Given the description of an element on the screen output the (x, y) to click on. 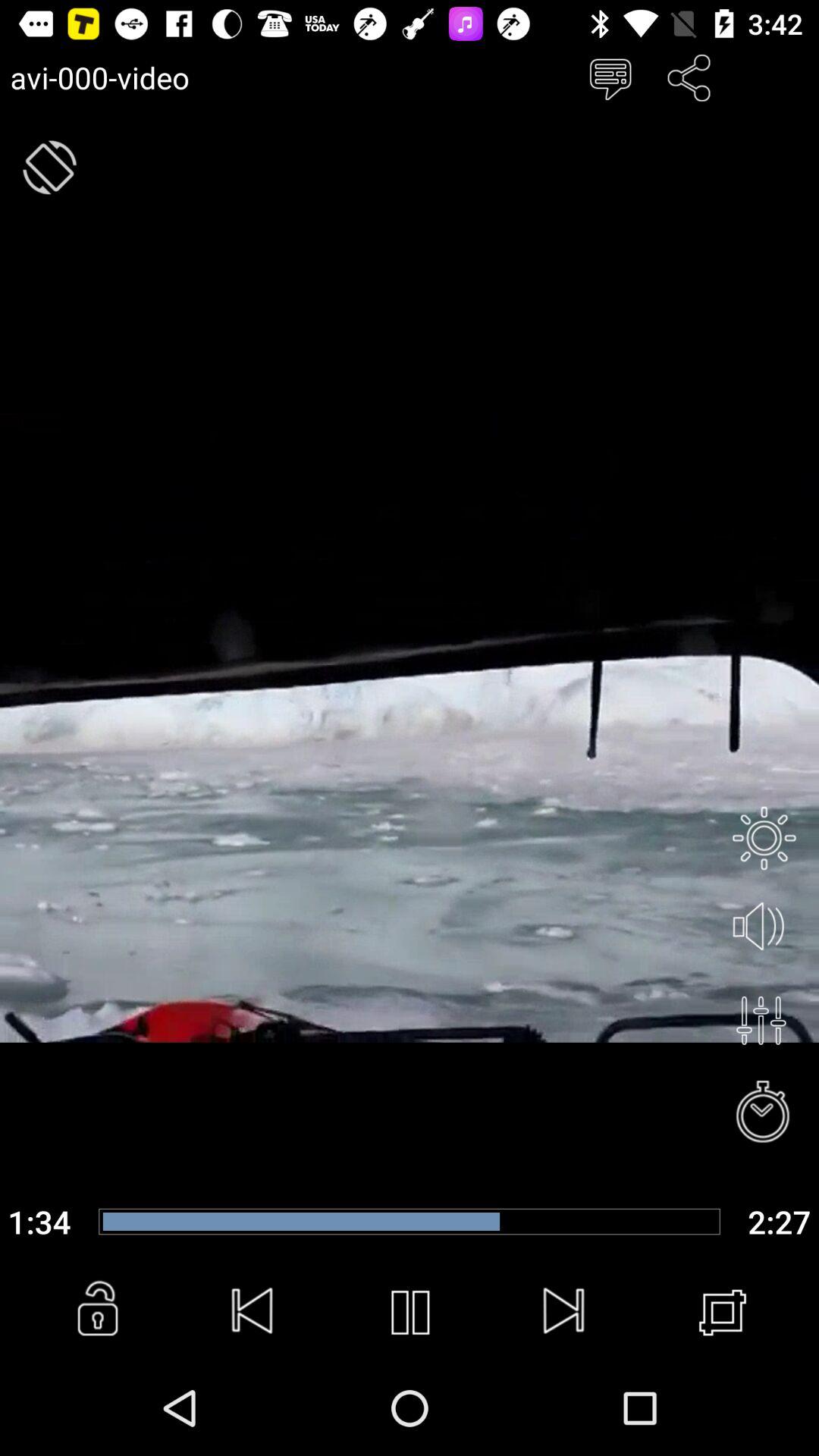
menu button (761, 1020)
